Given the description of an element on the screen output the (x, y) to click on. 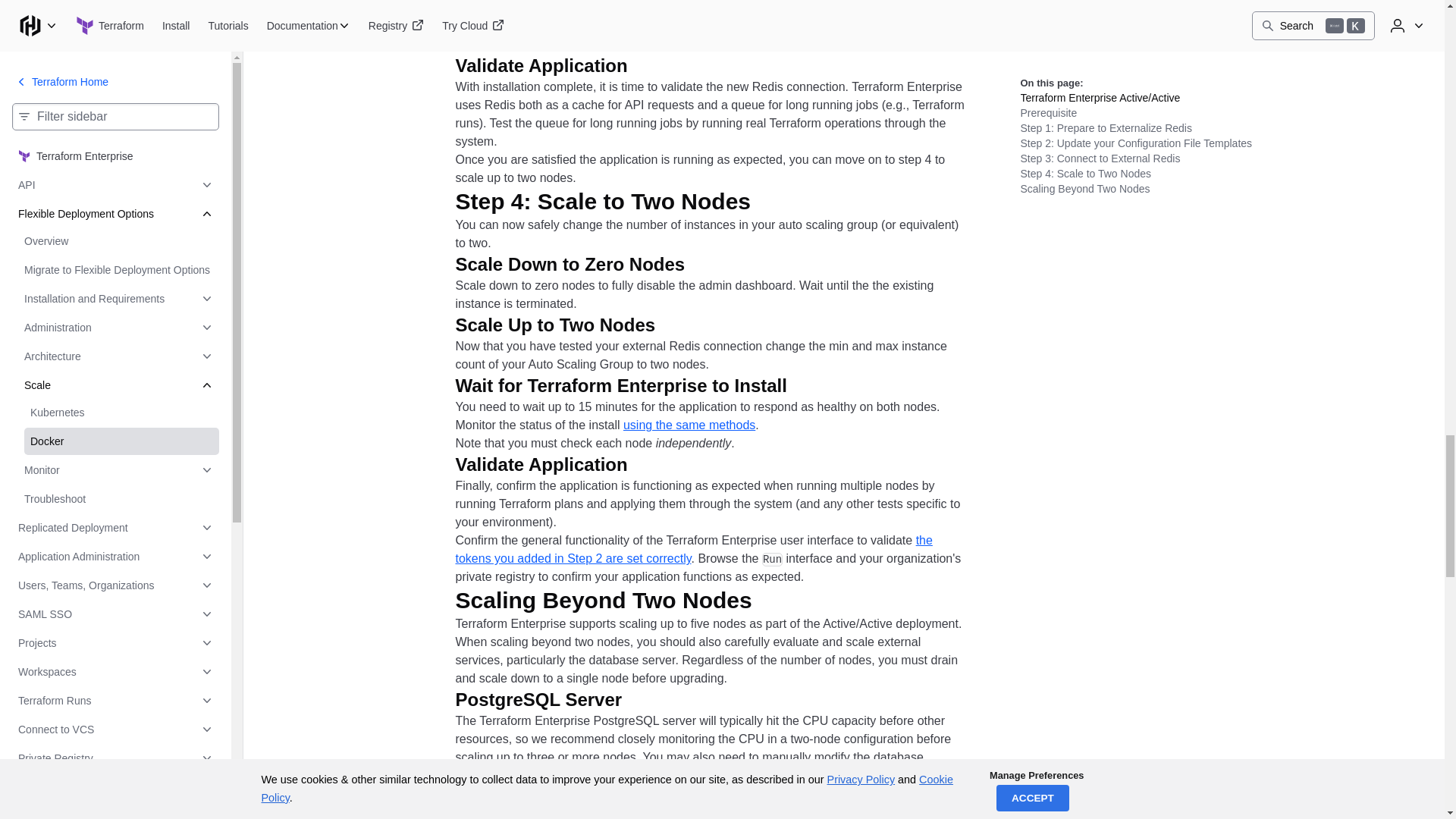
Scale Up to Two Nodes (566, 324)
Validate Application (552, 464)
Wait for Terraform Enterprise to Install (632, 385)
Scaling Beyond Two Nodes (615, 600)
Step 4: Scale to Two Nodes (614, 201)
Validate Application (552, 65)
Scale Down to Zero Nodes (581, 264)
PostgreSQL Server (550, 699)
